Given the description of an element on the screen output the (x, y) to click on. 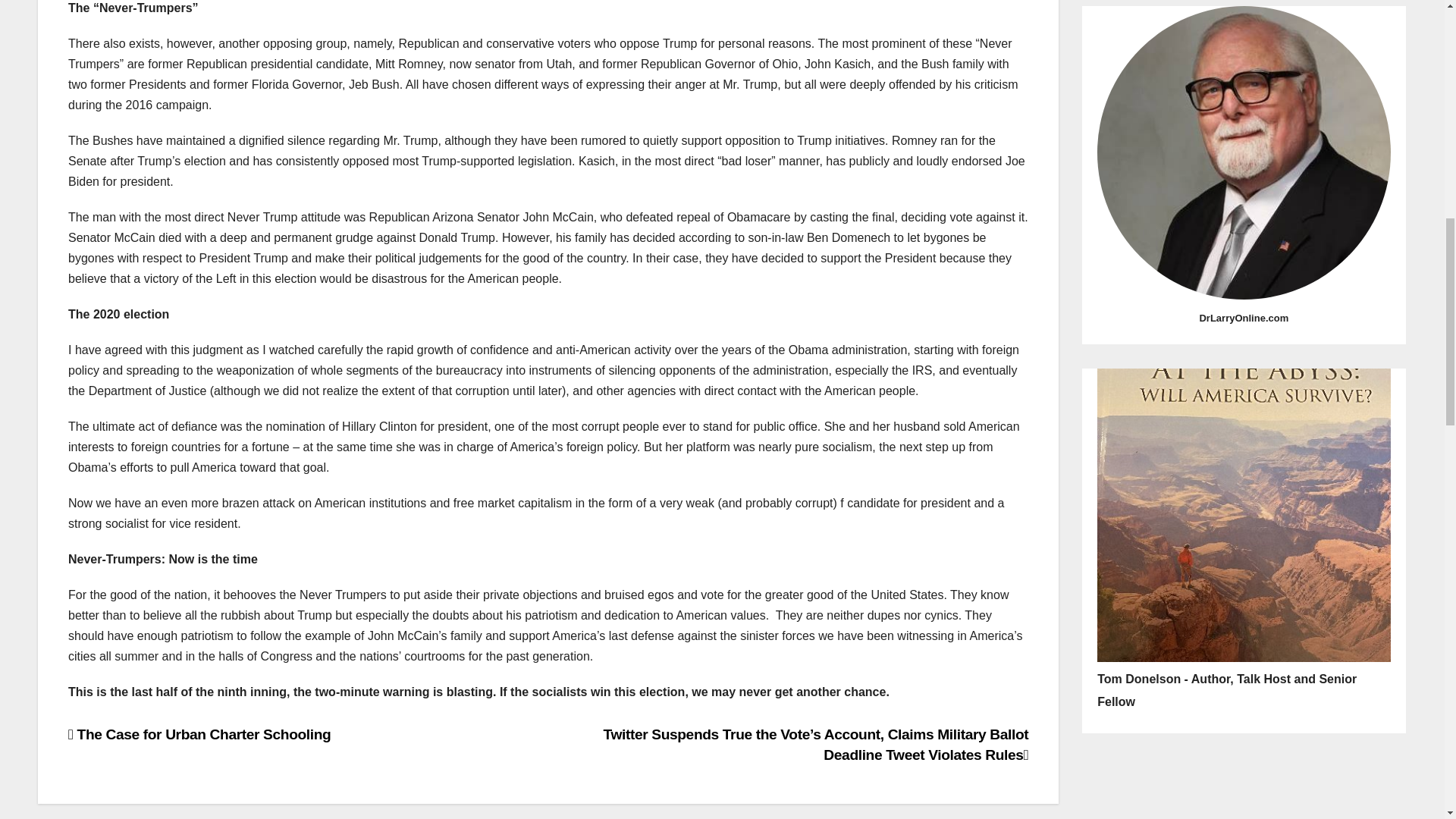
The Case for Urban Charter Schooling (199, 734)
